Given the description of an element on the screen output the (x, y) to click on. 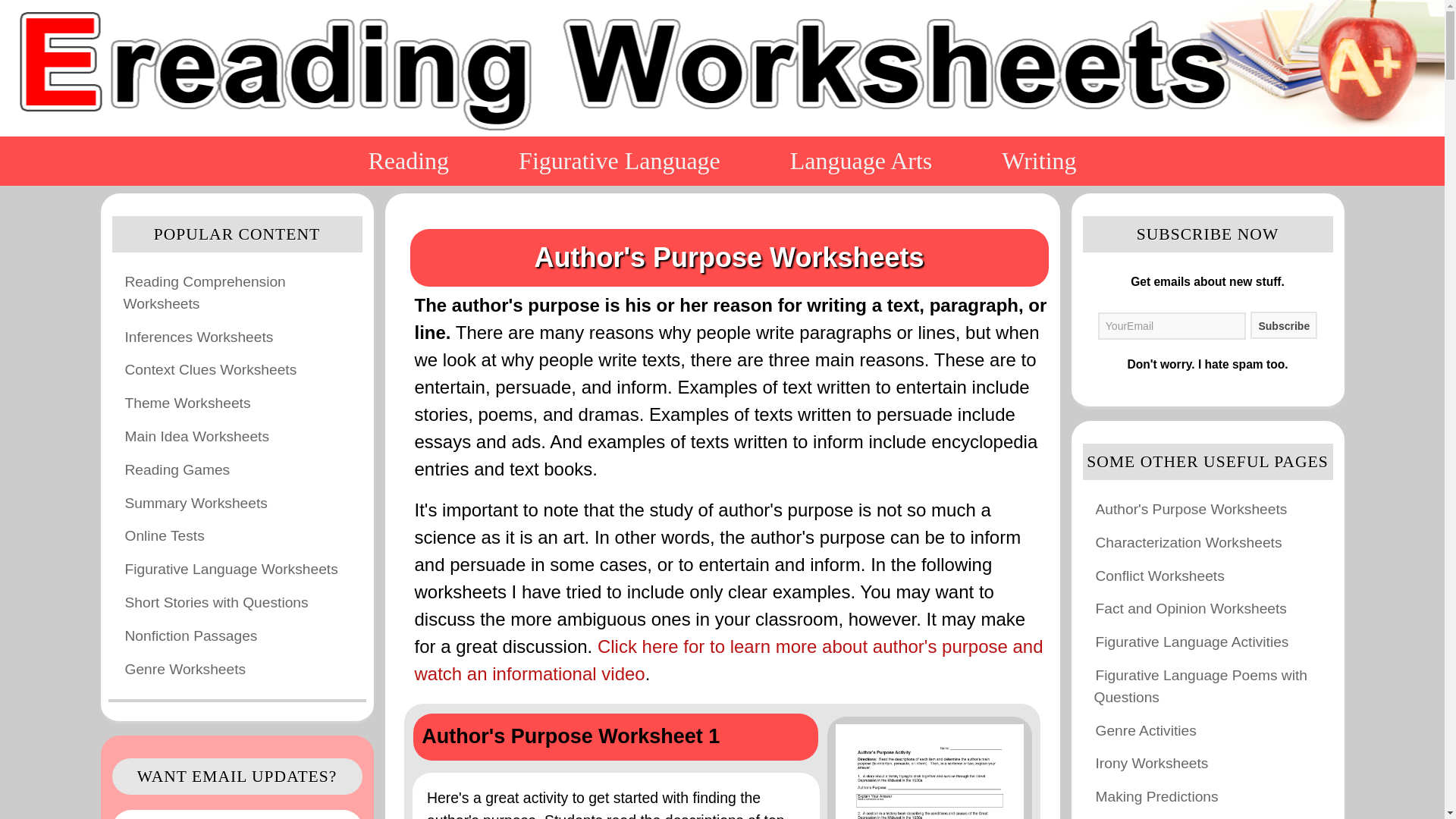
Reading Games (176, 469)
Writing (1038, 160)
Genre Worksheets (184, 669)
Figurative Language Worksheets (230, 568)
Short Stories with Questions (215, 602)
Main Idea Worksheets (196, 435)
Inferences Worksheets (198, 336)
Subscribe (1283, 325)
Context Clues Worksheets (210, 369)
Reading (408, 160)
Online Tests (163, 535)
YourEmail (1171, 325)
Theme Worksheets (186, 403)
Figurative Language (619, 160)
Language Arts (860, 160)
